Given the description of an element on the screen output the (x, y) to click on. 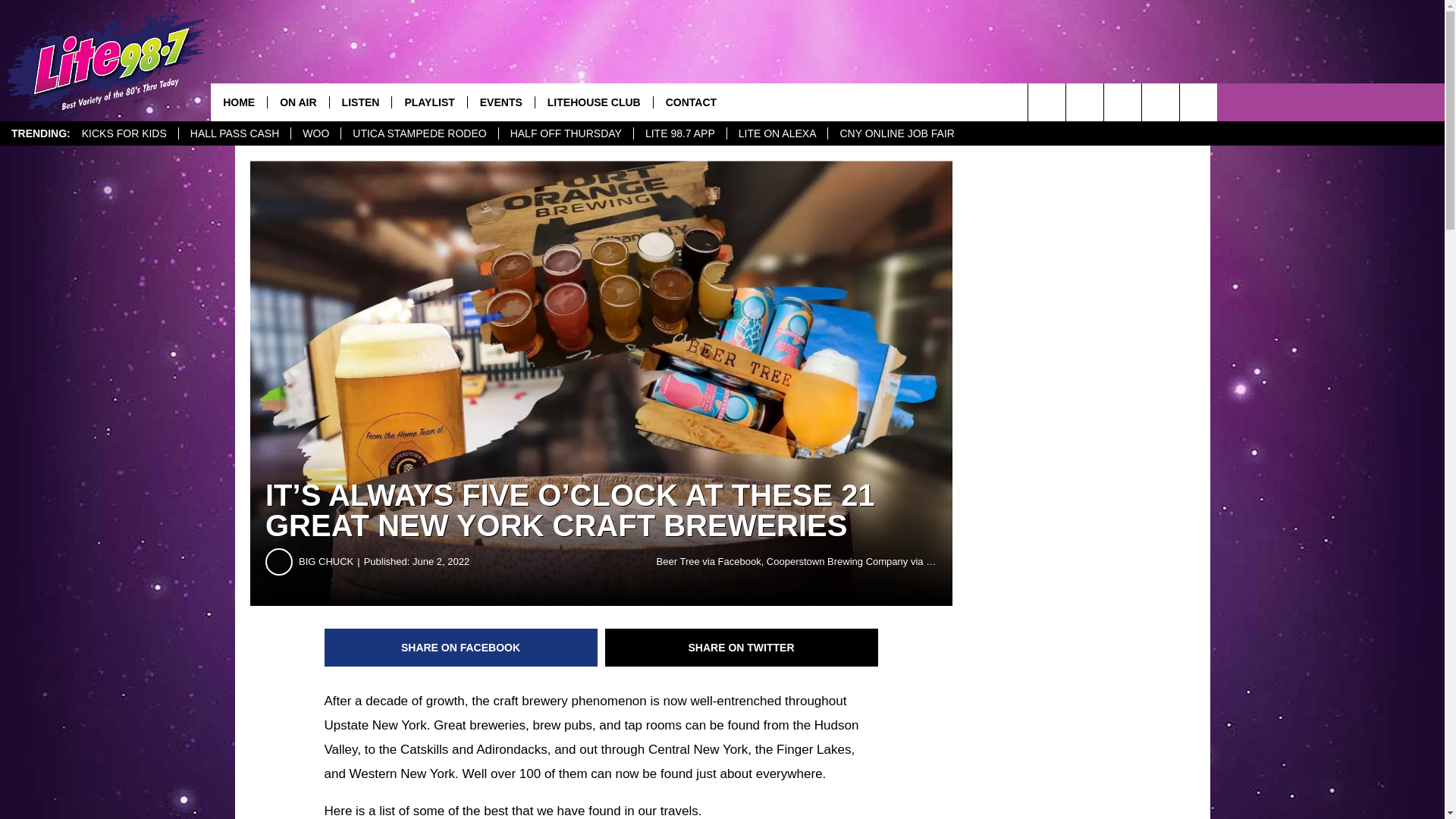
Share on Facebook (460, 647)
PLAYLIST (428, 102)
HALF OFF THURSDAY (565, 133)
LITEHOUSE CLUB (593, 102)
KICKS FOR KIDS (123, 133)
ON AIR (297, 102)
HALL PASS CASH (234, 133)
HOME (238, 102)
LITE 98.7 APP (679, 133)
WOO (314, 133)
Share on Twitter (741, 647)
UTICA STAMPEDE RODEO (418, 133)
LISTEN (360, 102)
LITE ON ALEXA (777, 133)
EVENTS (500, 102)
